Given the description of an element on the screen output the (x, y) to click on. 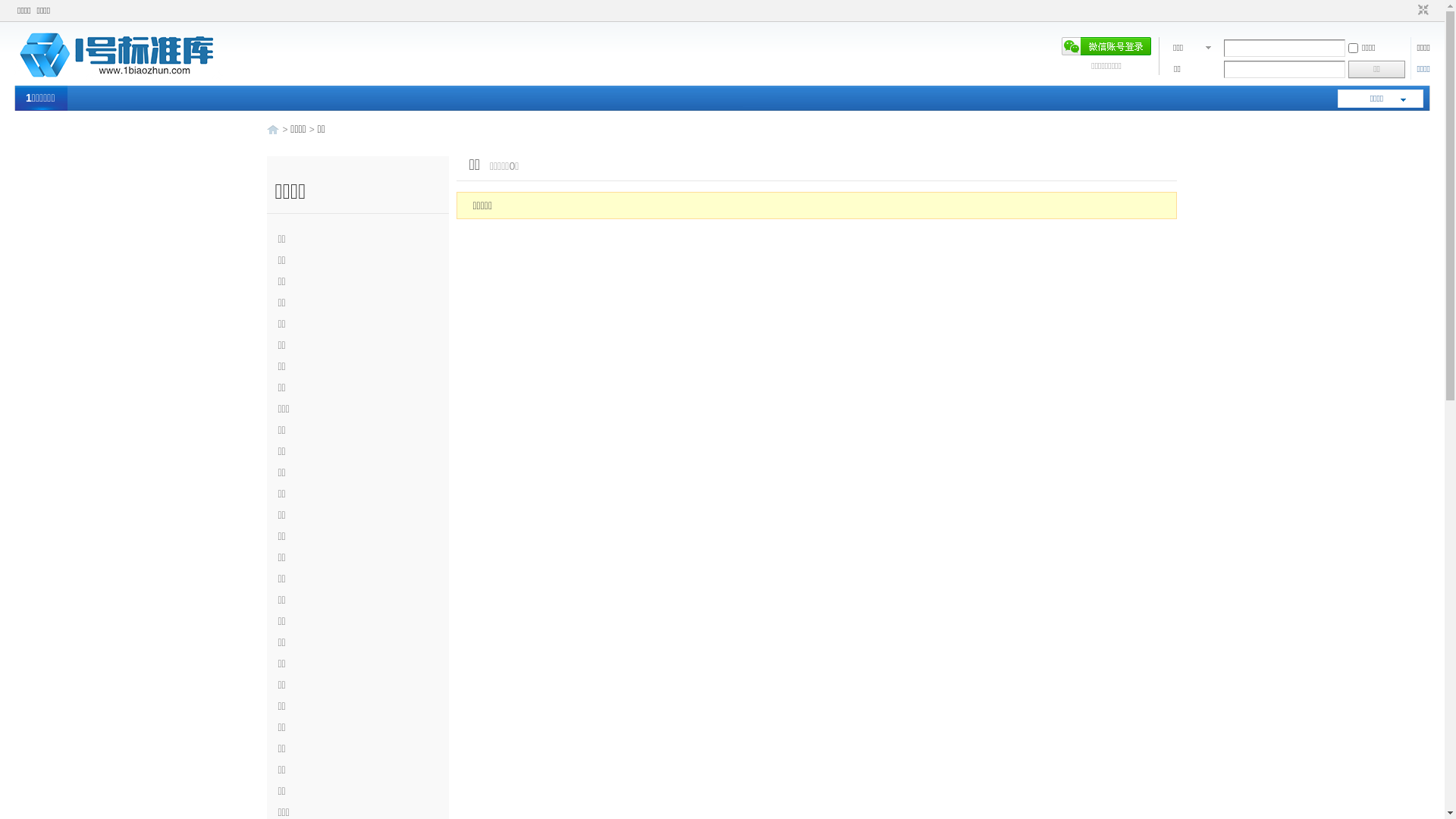
  Element type: text (272, 129)
